Given the description of an element on the screen output the (x, y) to click on. 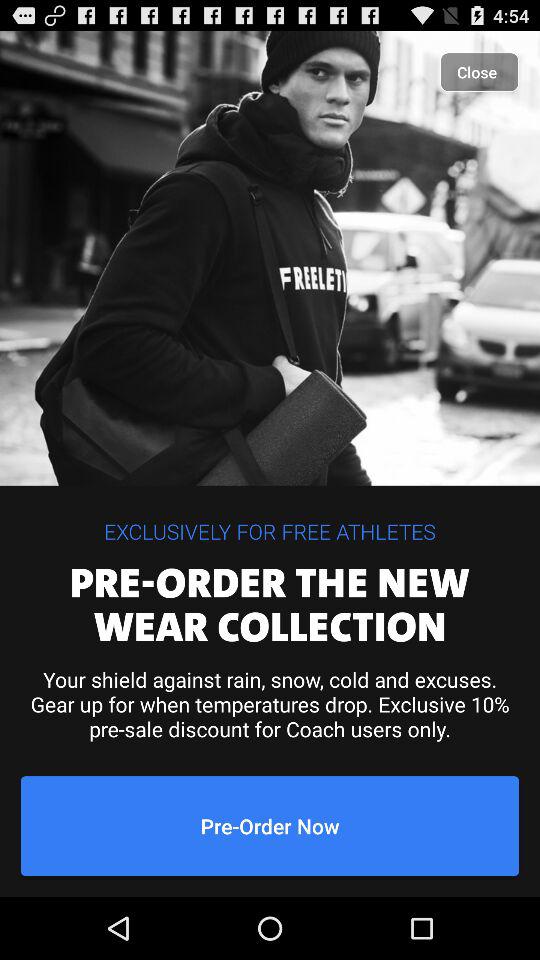
jump to the your shield against item (270, 704)
